Given the description of an element on the screen output the (x, y) to click on. 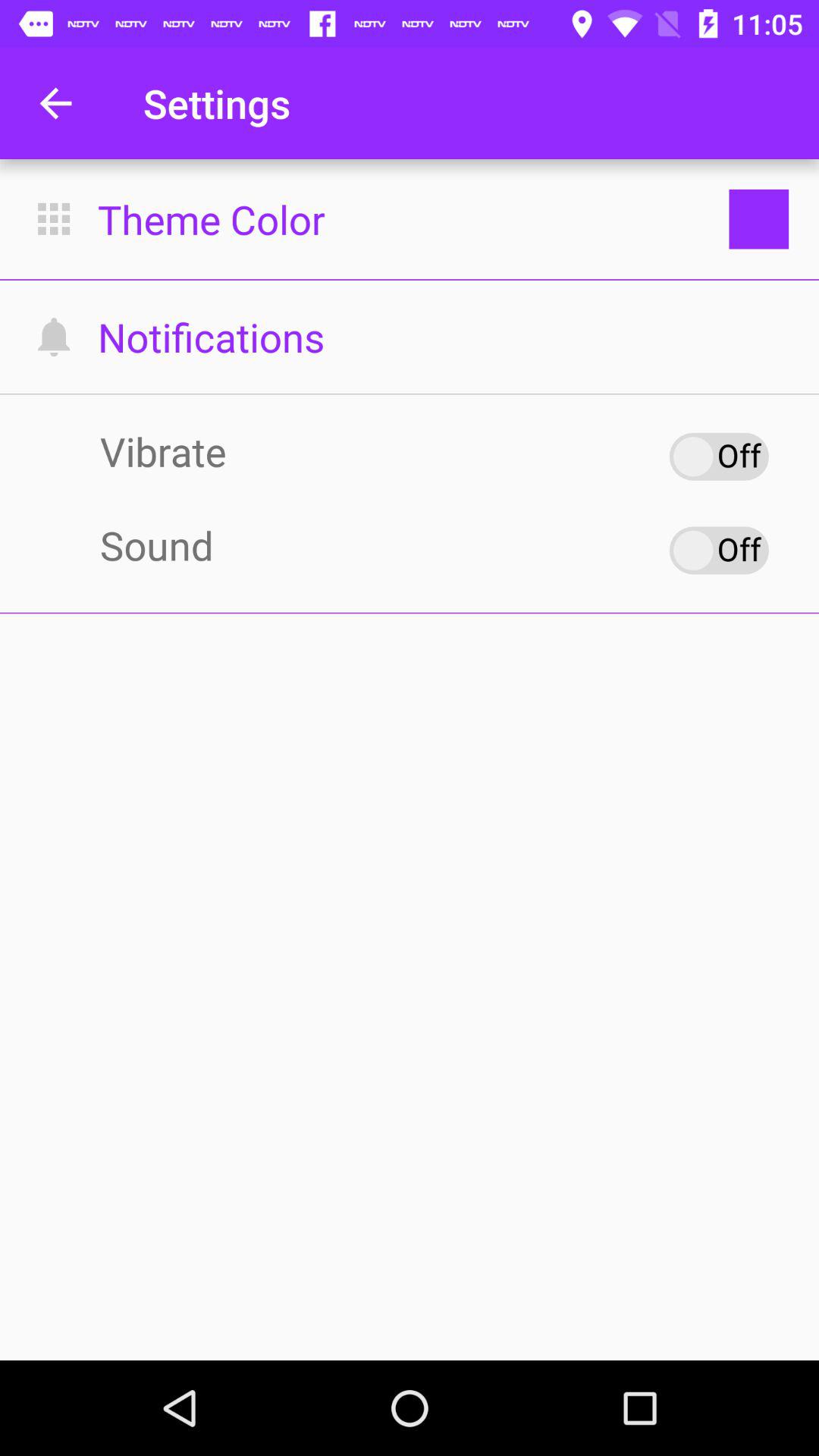
toggle vibrate (718, 456)
